Given the description of an element on the screen output the (x, y) to click on. 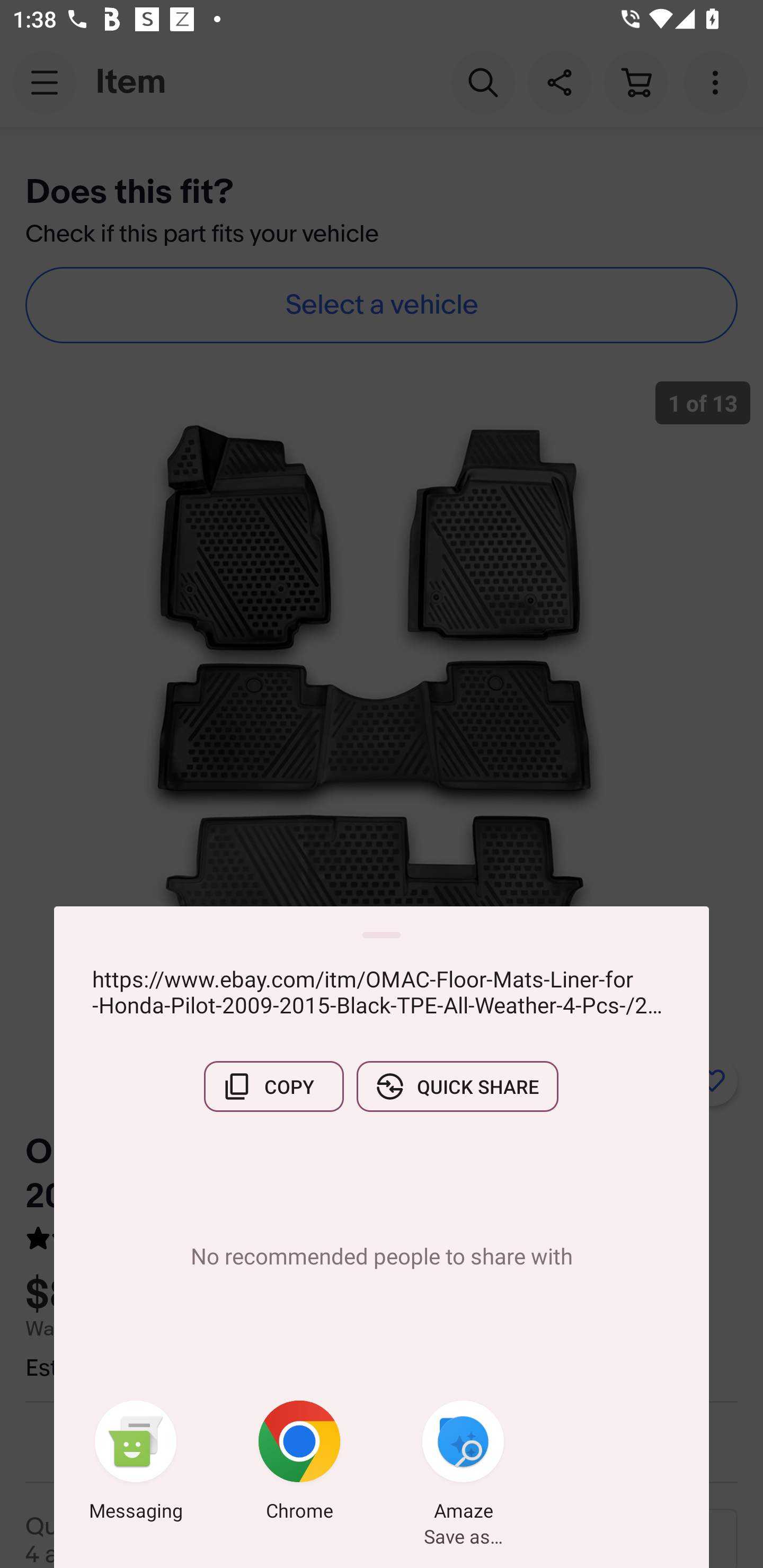
COPY (273, 1086)
QUICK SHARE (457, 1086)
Messaging (135, 1463)
Chrome (299, 1463)
Amaze Save as… (463, 1463)
